Given the description of an element on the screen output the (x, y) to click on. 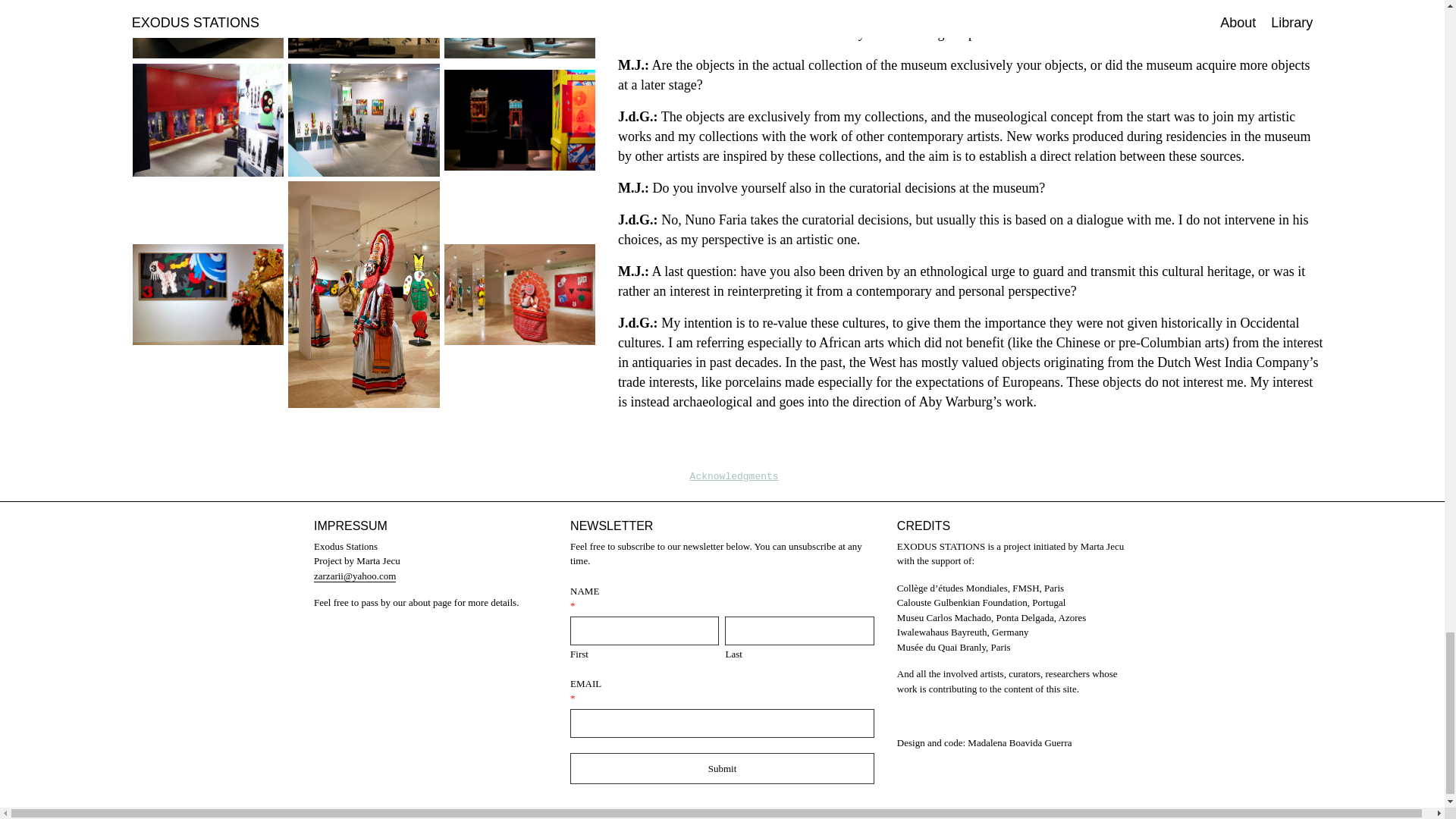
Submit (722, 768)
